Given the description of an element on the screen output the (x, y) to click on. 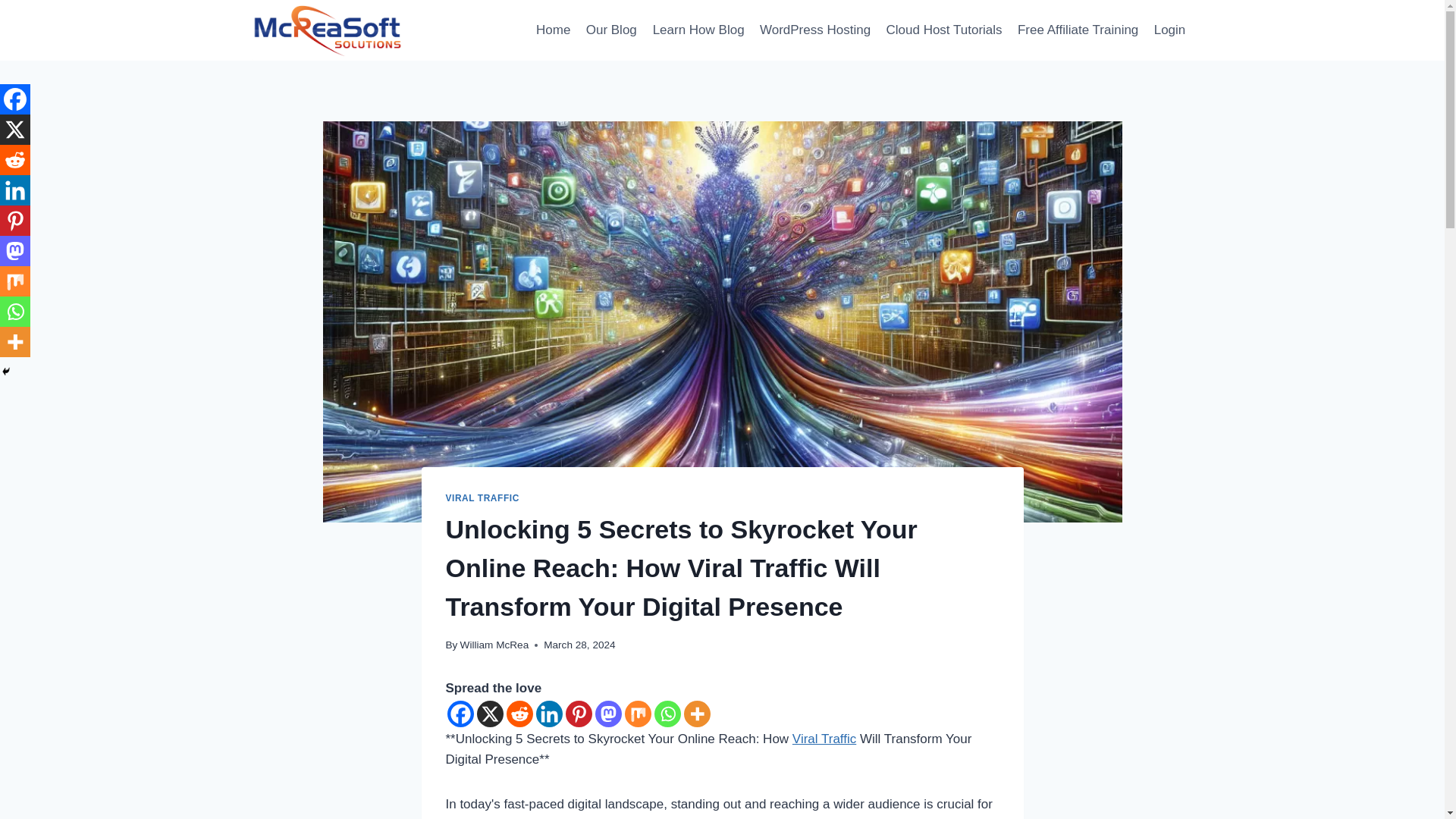
Viral Traffic (824, 739)
More (697, 714)
Whatsapp (666, 714)
Linkedin (548, 714)
Home (553, 30)
William McRea (494, 644)
Cloud Host Tutorials (943, 30)
Reddit (519, 714)
Our Blog (611, 30)
Mastodon (607, 714)
